Given the description of an element on the screen output the (x, y) to click on. 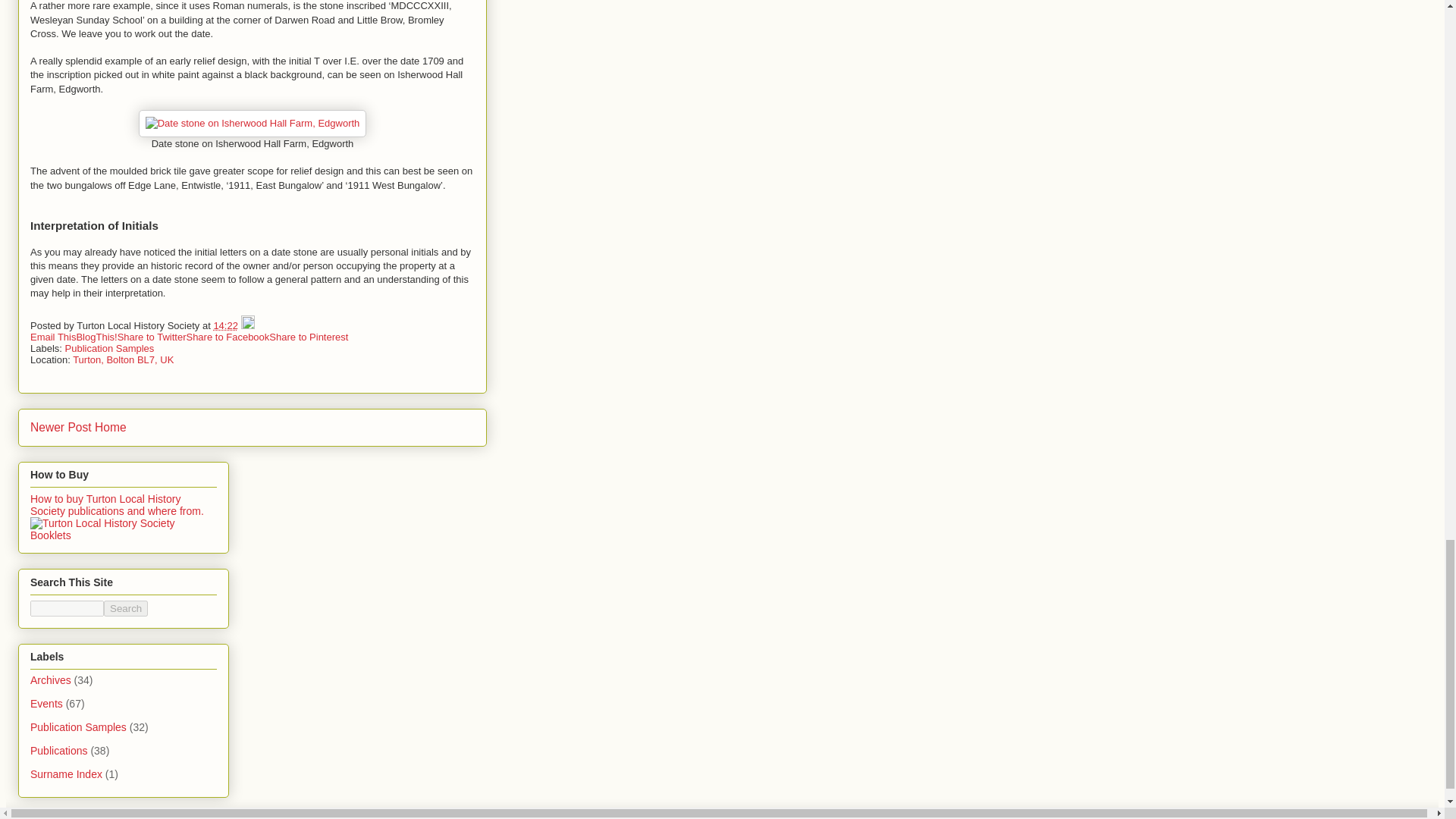
Newer Post (60, 427)
Email This (52, 337)
Search (125, 608)
Archives (50, 680)
Share to Pinterest (308, 337)
Publications (58, 750)
Search (125, 608)
search (66, 608)
BlogThis! (95, 337)
permanent link (225, 325)
